Given the description of an element on the screen output the (x, y) to click on. 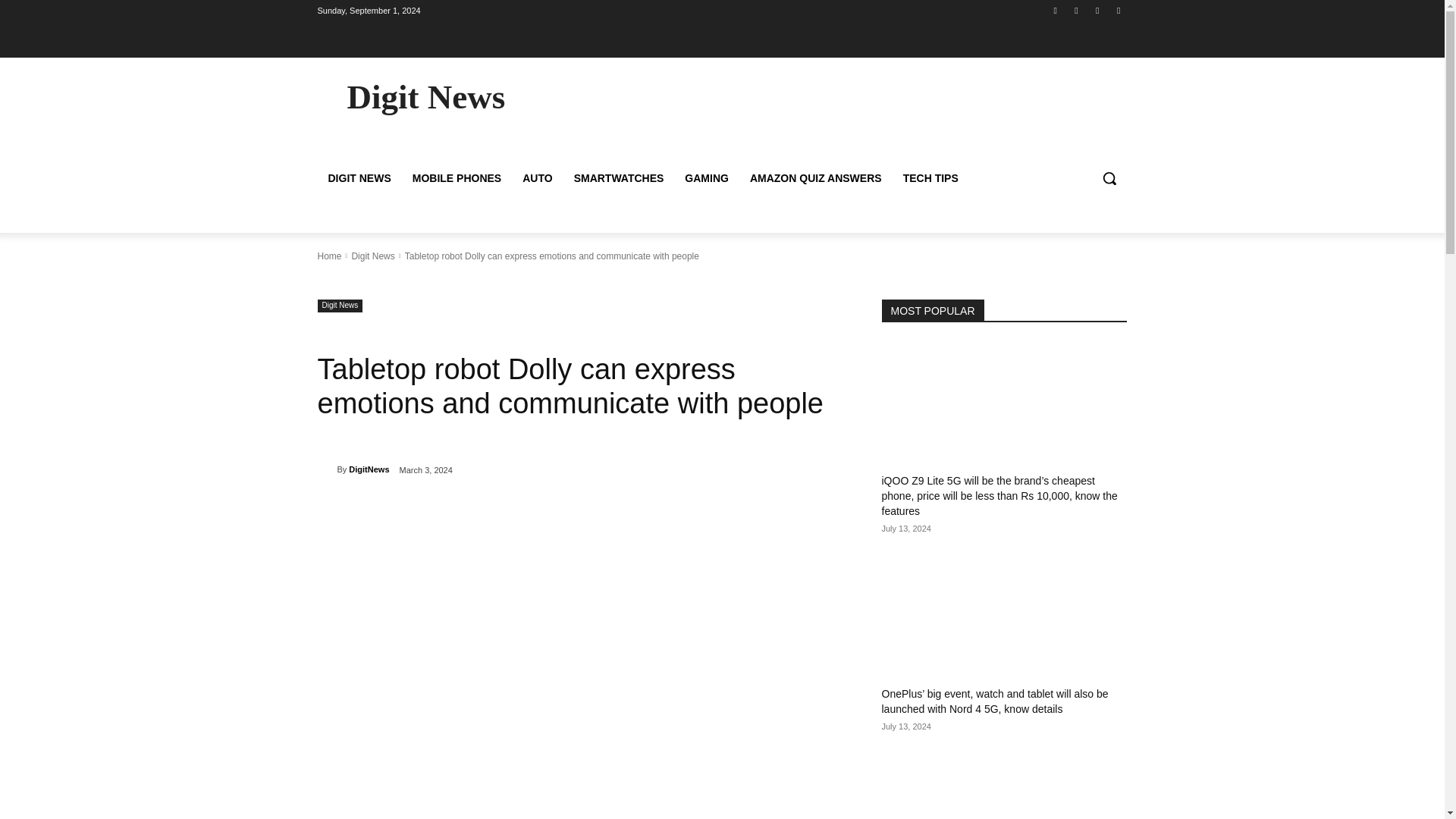
Digit News (339, 305)
GAMING (706, 176)
Digit News (372, 255)
Youtube (1117, 9)
DIGIT NEWS (359, 176)
Facebook (1055, 9)
View all posts in Digit News (372, 255)
DigitNews (368, 468)
DigitNews (326, 468)
Home (328, 255)
